Given the description of an element on the screen output the (x, y) to click on. 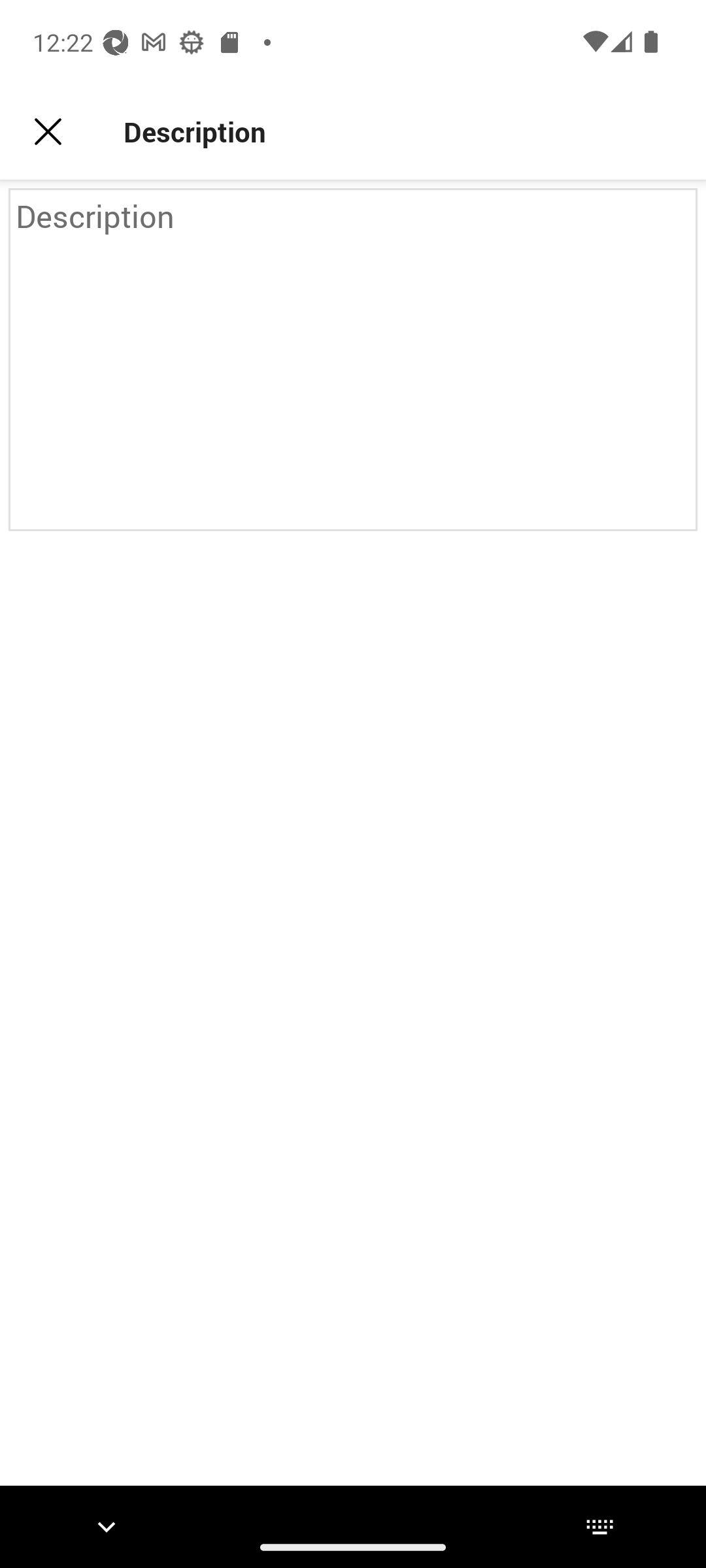
Back (48, 131)
Description (352, 359)
